Given the description of an element on the screen output the (x, y) to click on. 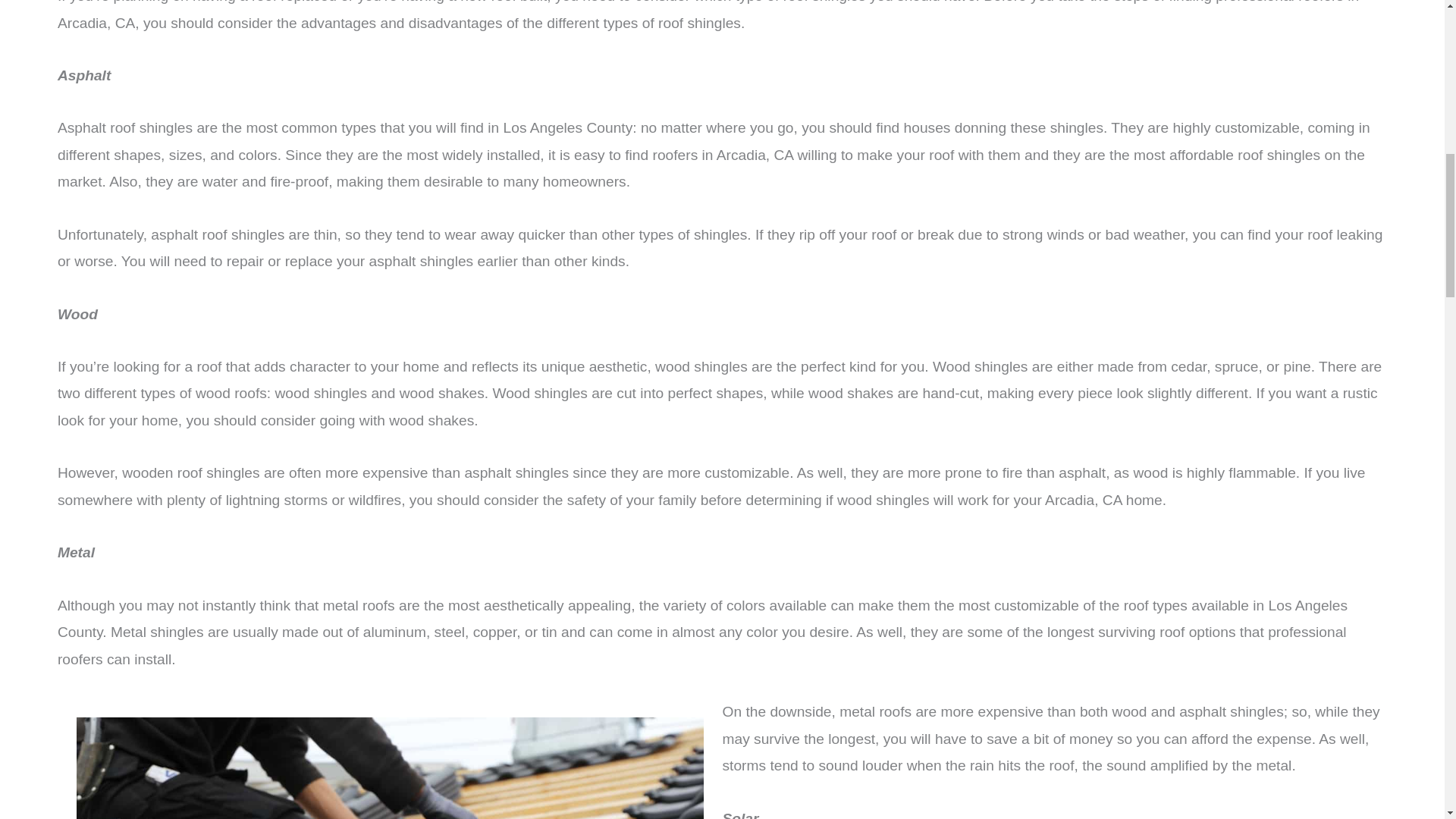
Roof Shingles in Arcadia, CA (390, 758)
